Given the description of an element on the screen output the (x, y) to click on. 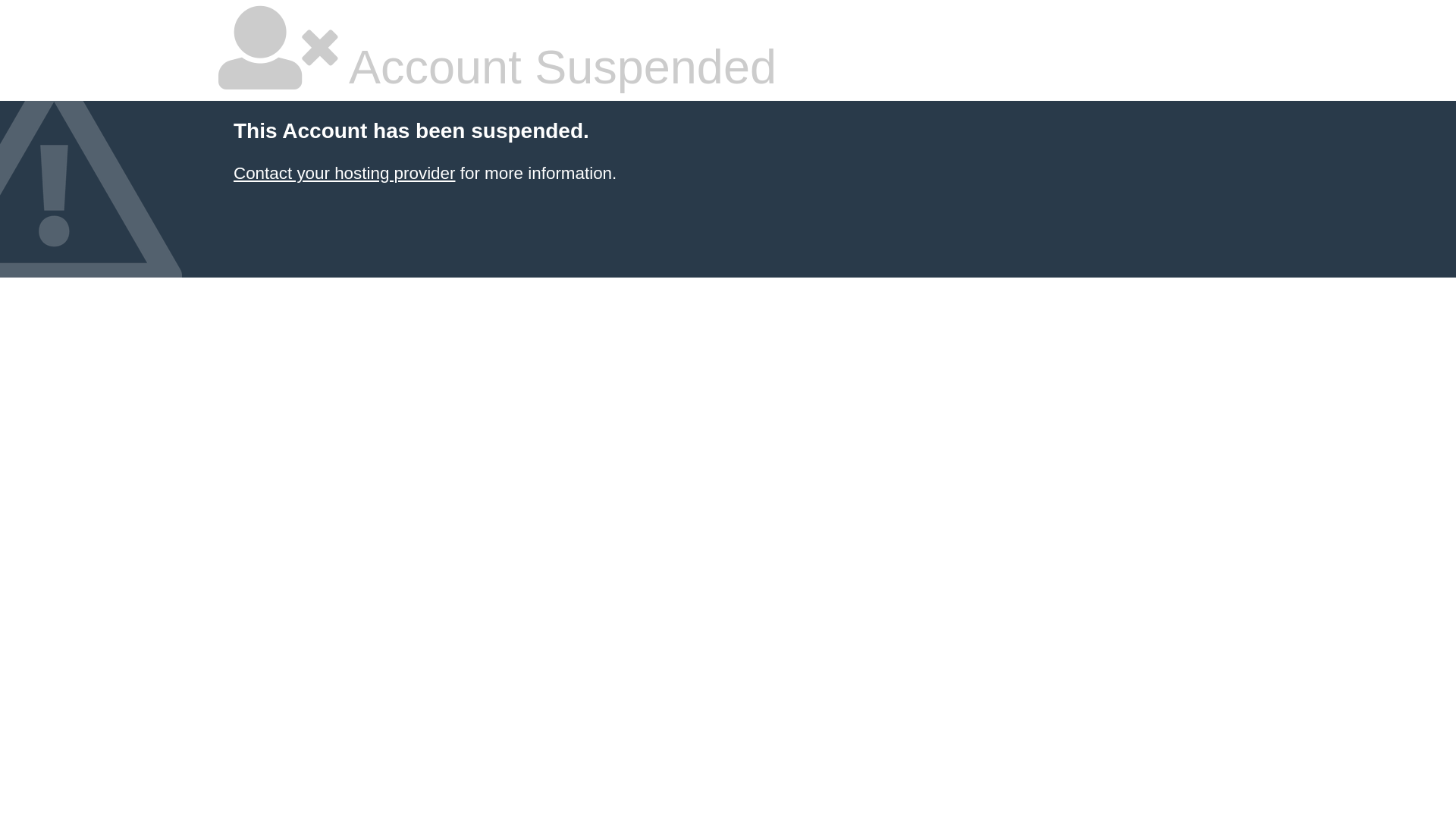
Contact your hosting provider Element type: text (344, 172)
